Given the description of an element on the screen output the (x, y) to click on. 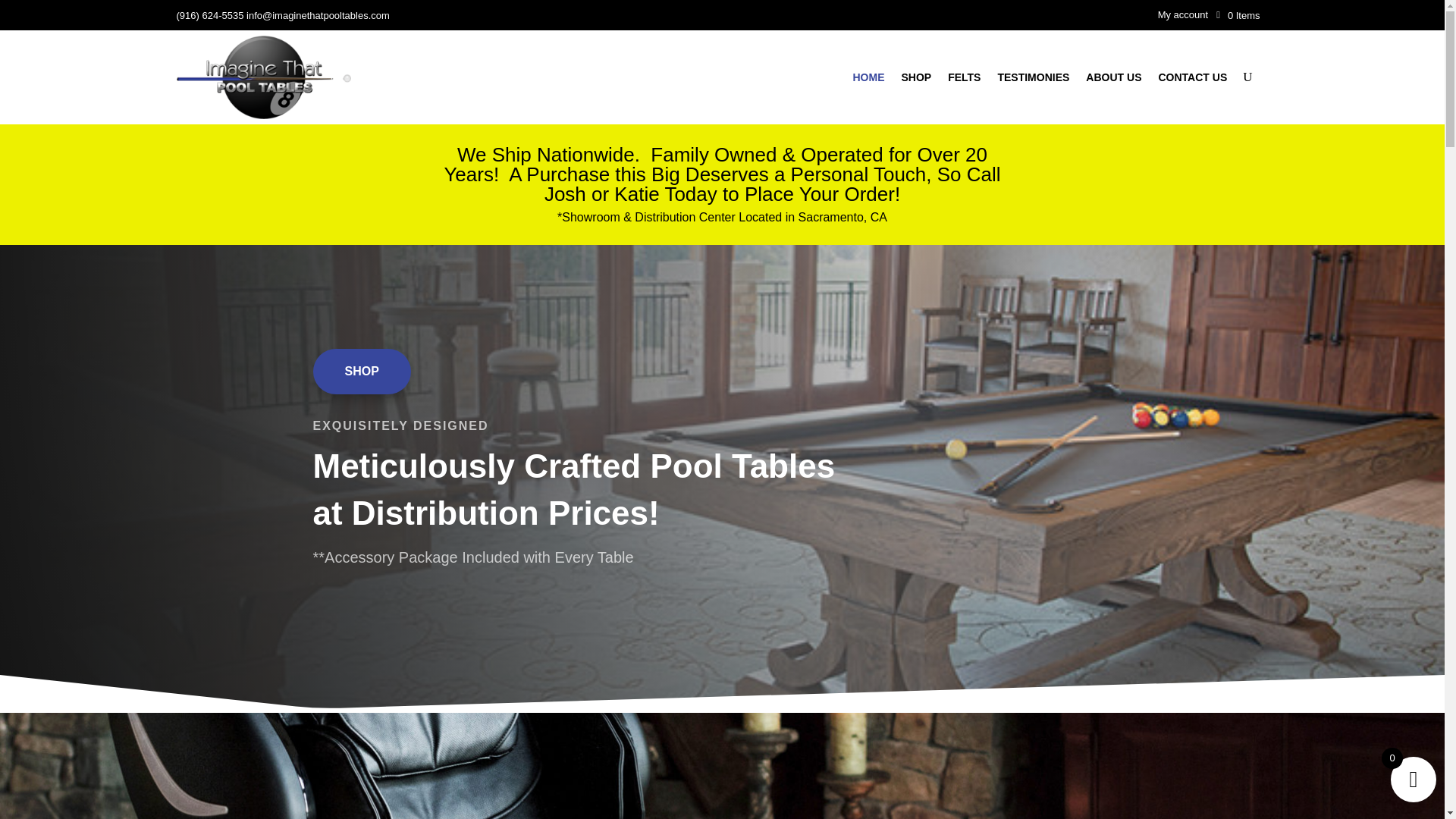
Imagine Pool Tables (263, 77)
SHOP (361, 371)
CONTACT US (1192, 80)
My account (1182, 17)
TESTIMONIES (1032, 80)
HOME (867, 80)
ABOUT US (1113, 80)
FELTS (963, 80)
0 Items (1237, 15)
SHOP (916, 80)
